Given the description of an element on the screen output the (x, y) to click on. 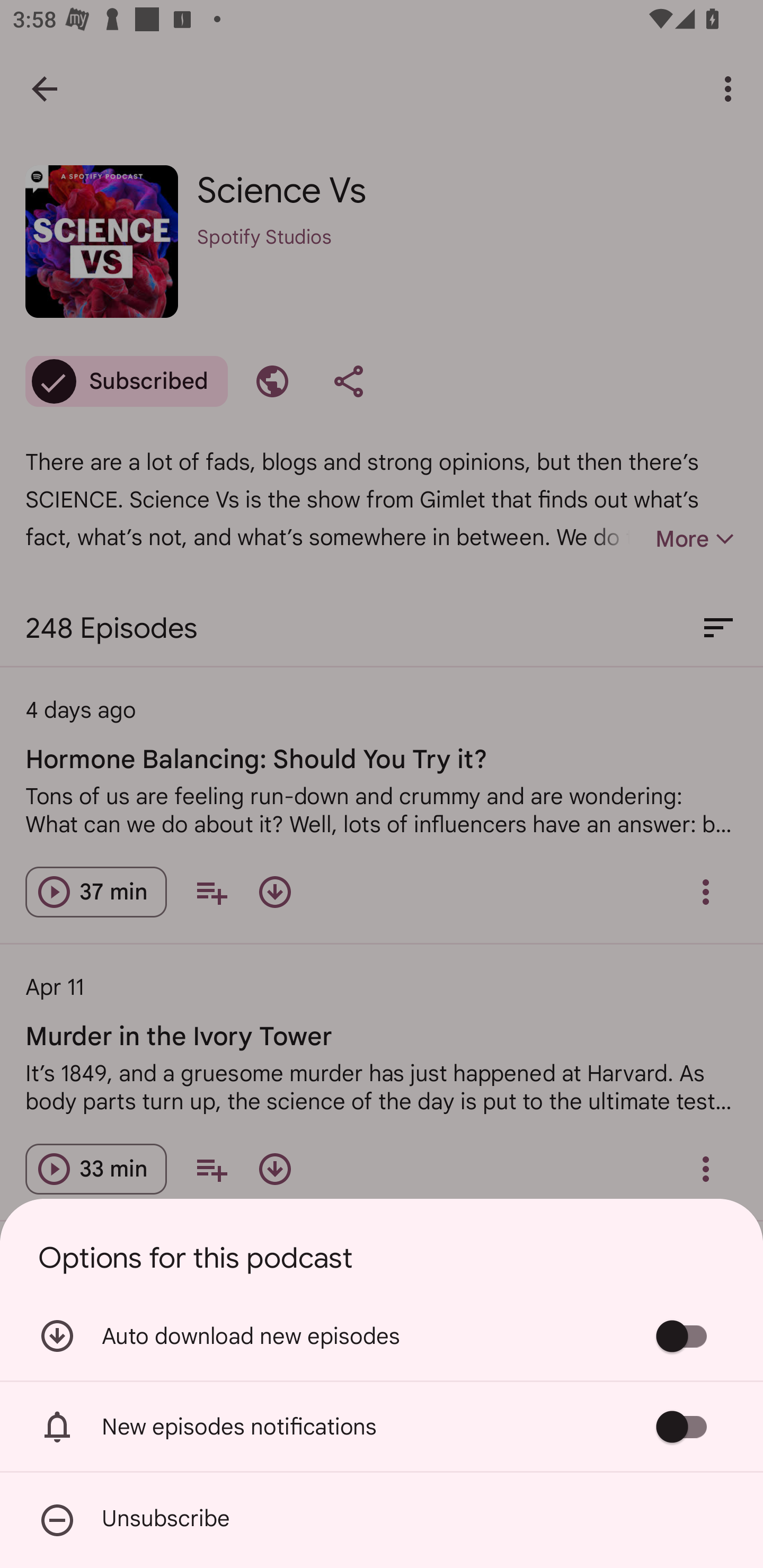
Auto download new episodes (381, 1335)
New episodes notifications (381, 1425)
Unsubscribe (381, 1520)
